Given the description of an element on the screen output the (x, y) to click on. 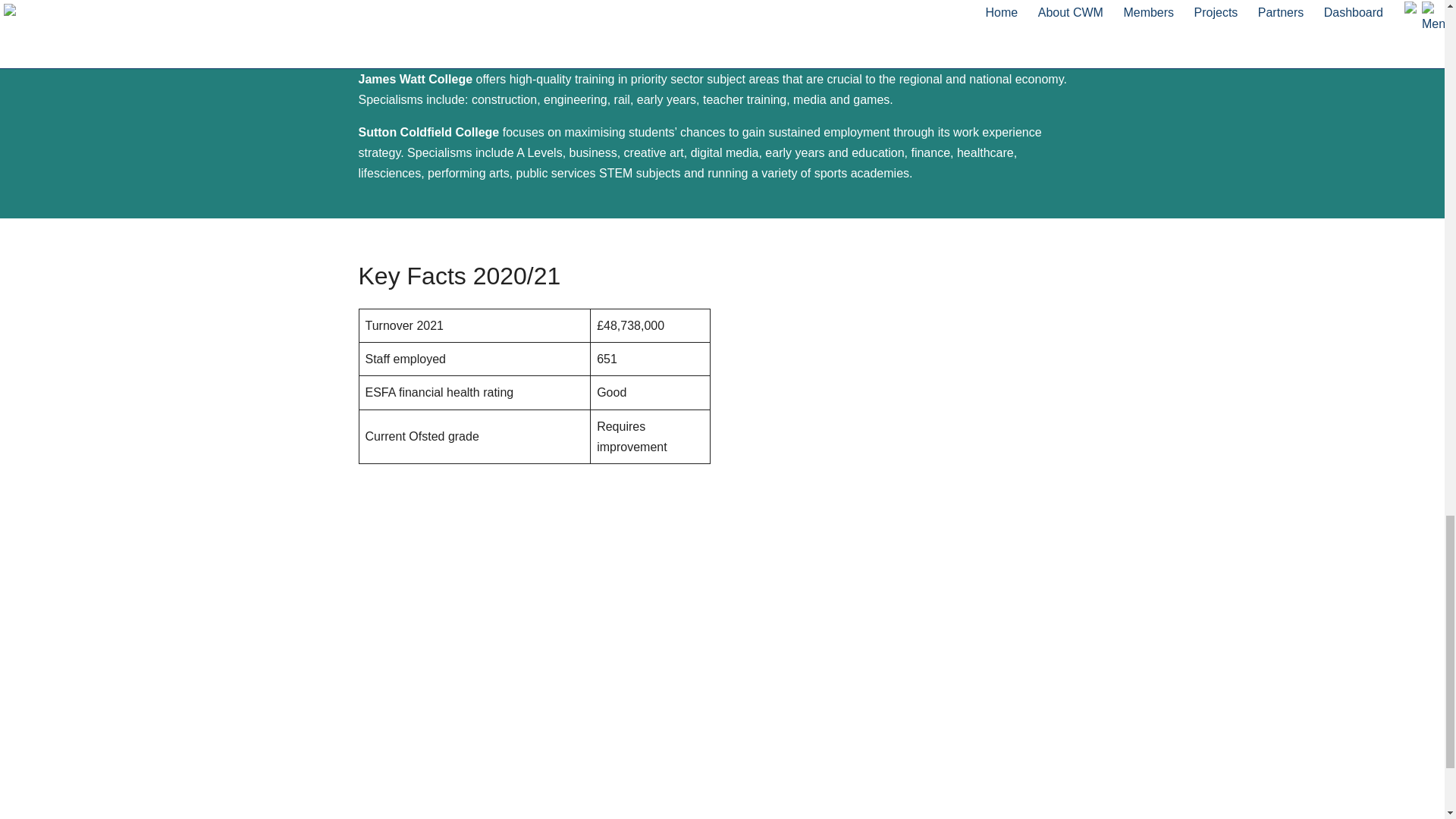
Members (383, 776)
LinkedIn (631, 755)
Projects (379, 797)
About CWM (390, 755)
Twitter (626, 735)
Privacy Policy (898, 735)
Home (374, 735)
Dashboard (387, 815)
